Given the description of an element on the screen output the (x, y) to click on. 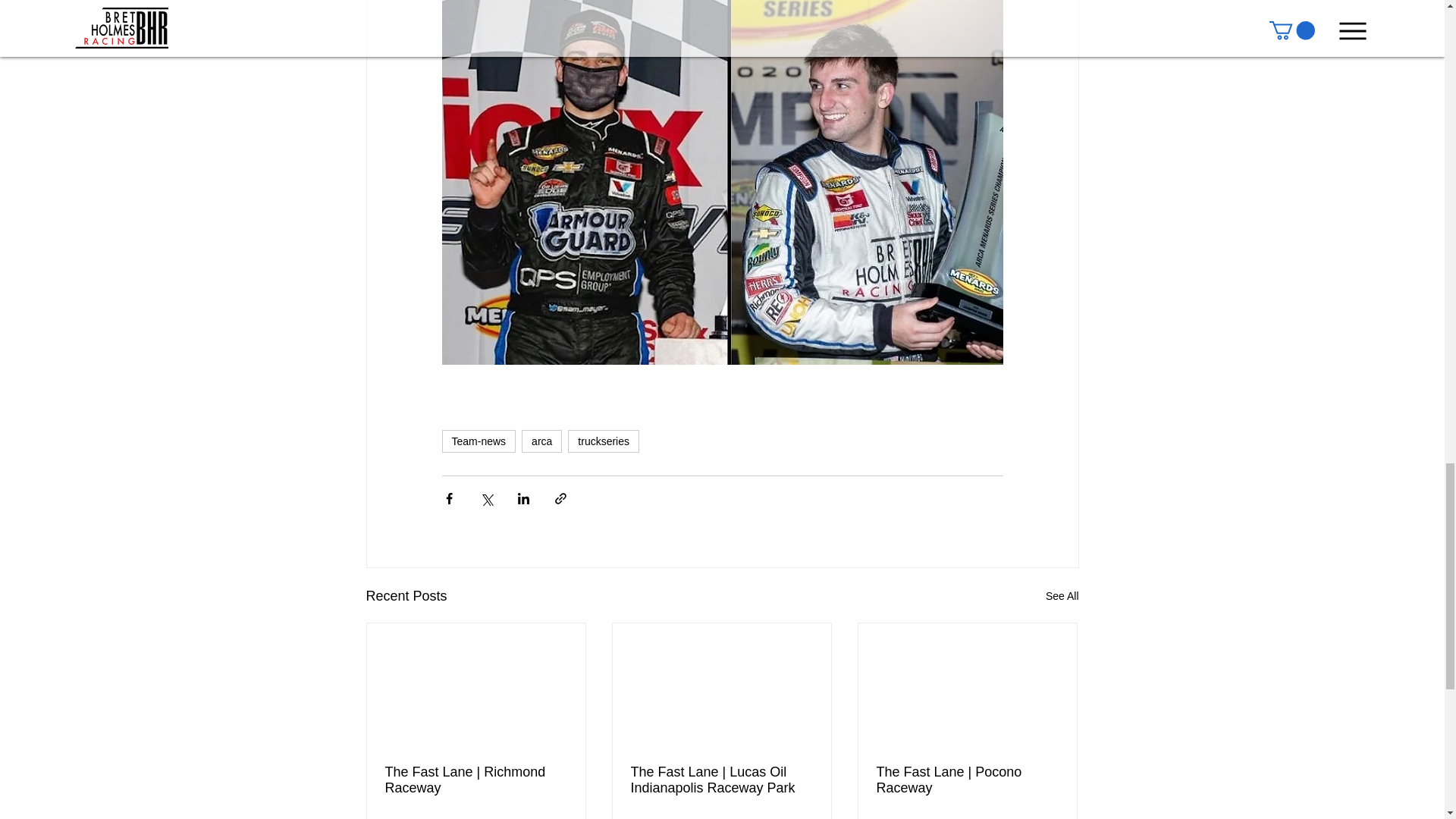
truckseries (603, 440)
arca (541, 440)
See All (1061, 596)
Team-news (478, 440)
